Given the description of an element on the screen output the (x, y) to click on. 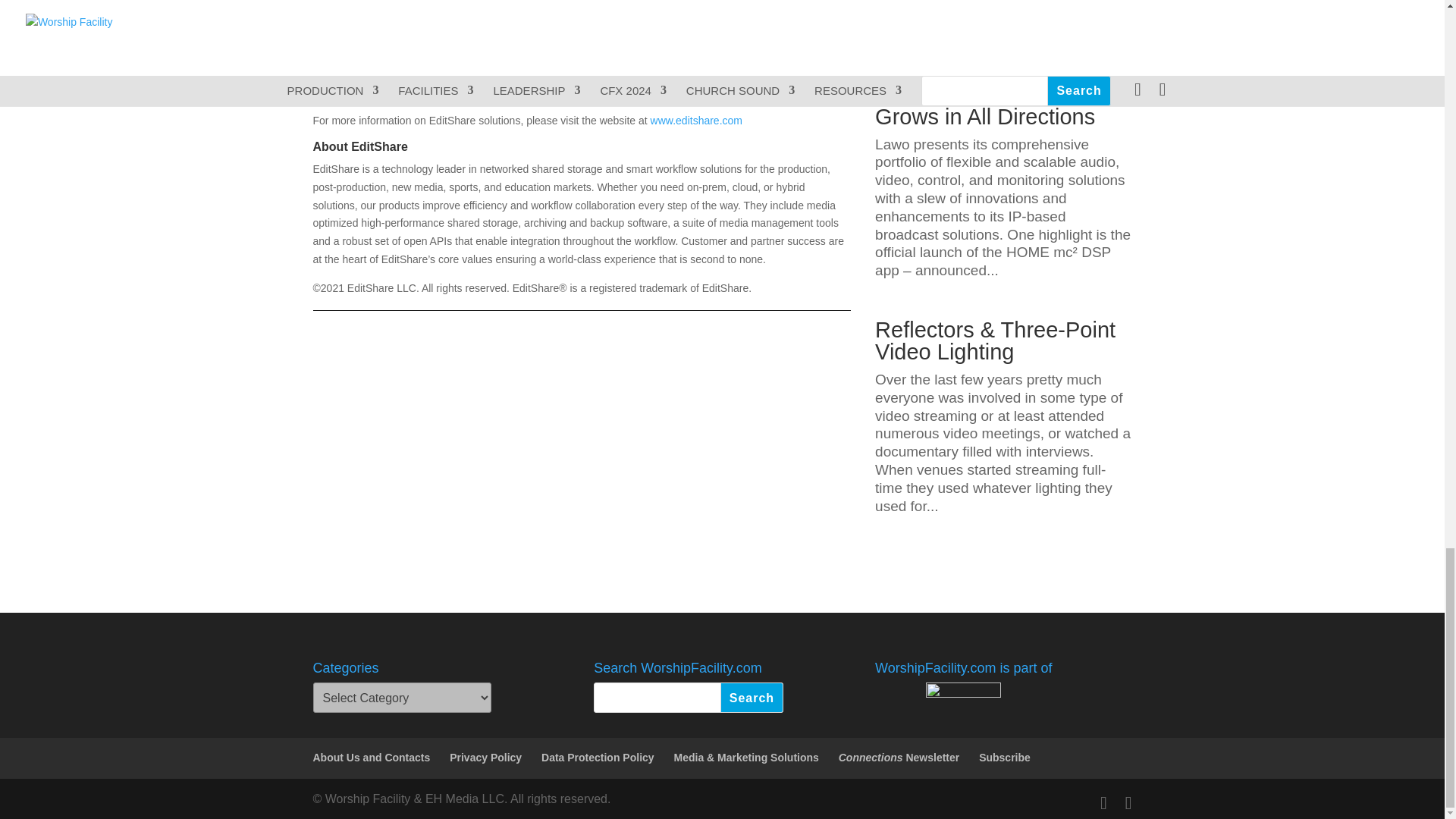
Search (752, 697)
